Given the description of an element on the screen output the (x, y) to click on. 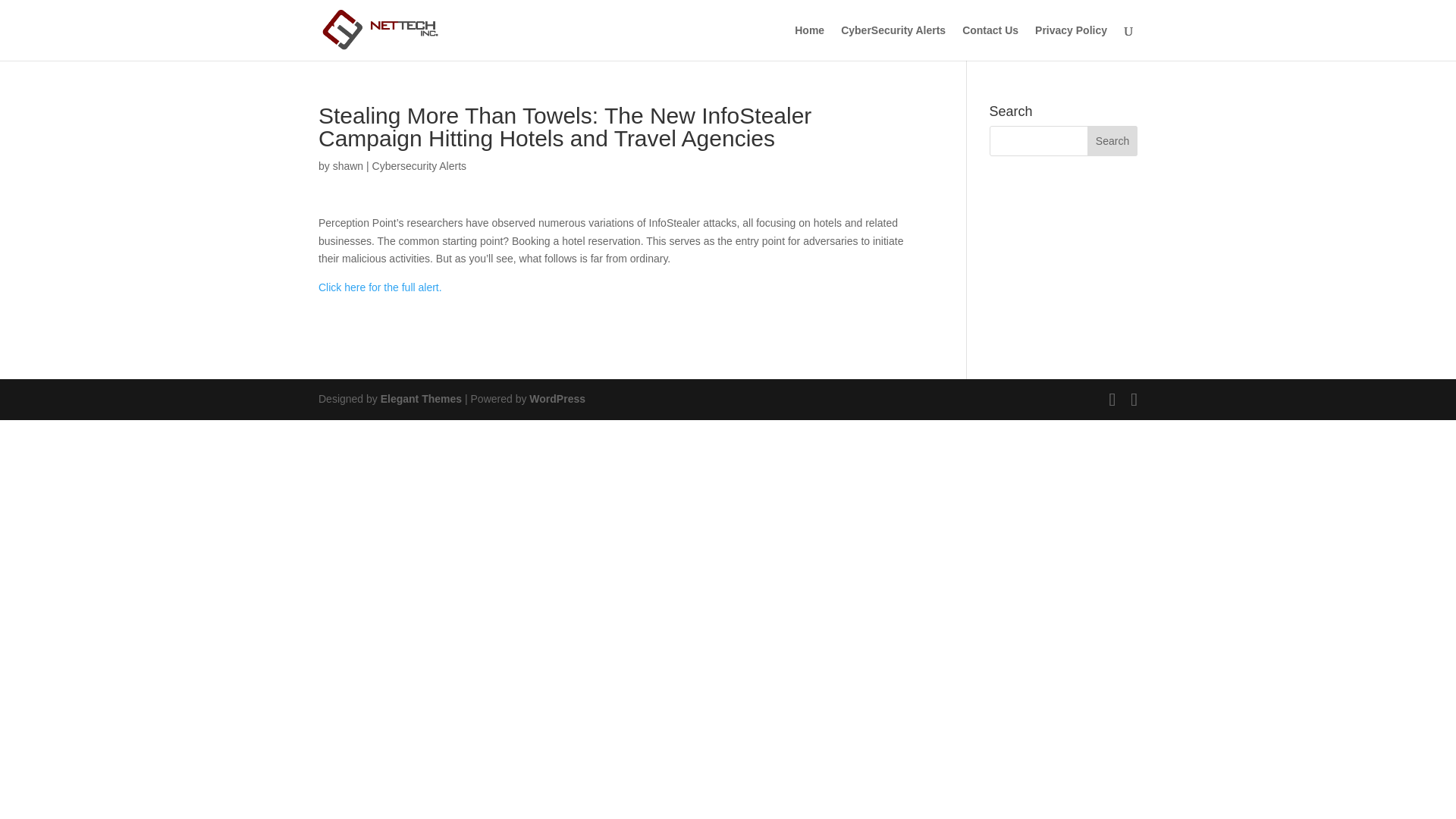
Cybersecurity Alerts (418, 165)
Premium WordPress Themes (420, 398)
Search (1112, 141)
shawn (347, 165)
WordPress (557, 398)
Contact Us (989, 42)
Click here for the (359, 287)
CyberSecurity Alerts (892, 42)
alert. (430, 287)
Search (1112, 141)
Privacy Policy (1070, 42)
Elegant Themes (420, 398)
full (410, 287)
Posts by shawn (347, 165)
